Given the description of an element on the screen output the (x, y) to click on. 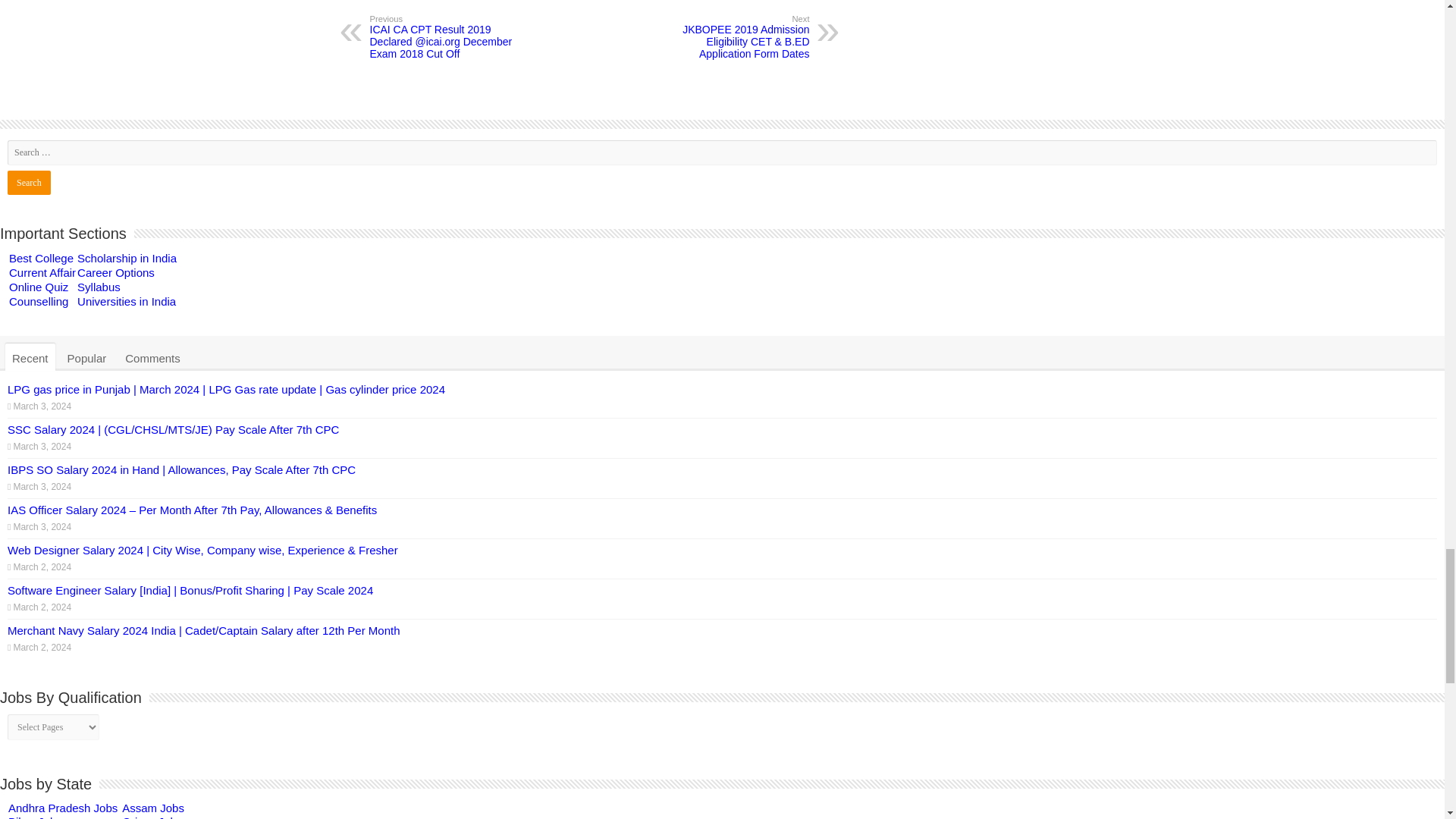
Advertisement (589, 2)
Search (28, 181)
Search (28, 181)
